Given the description of an element on the screen output the (x, y) to click on. 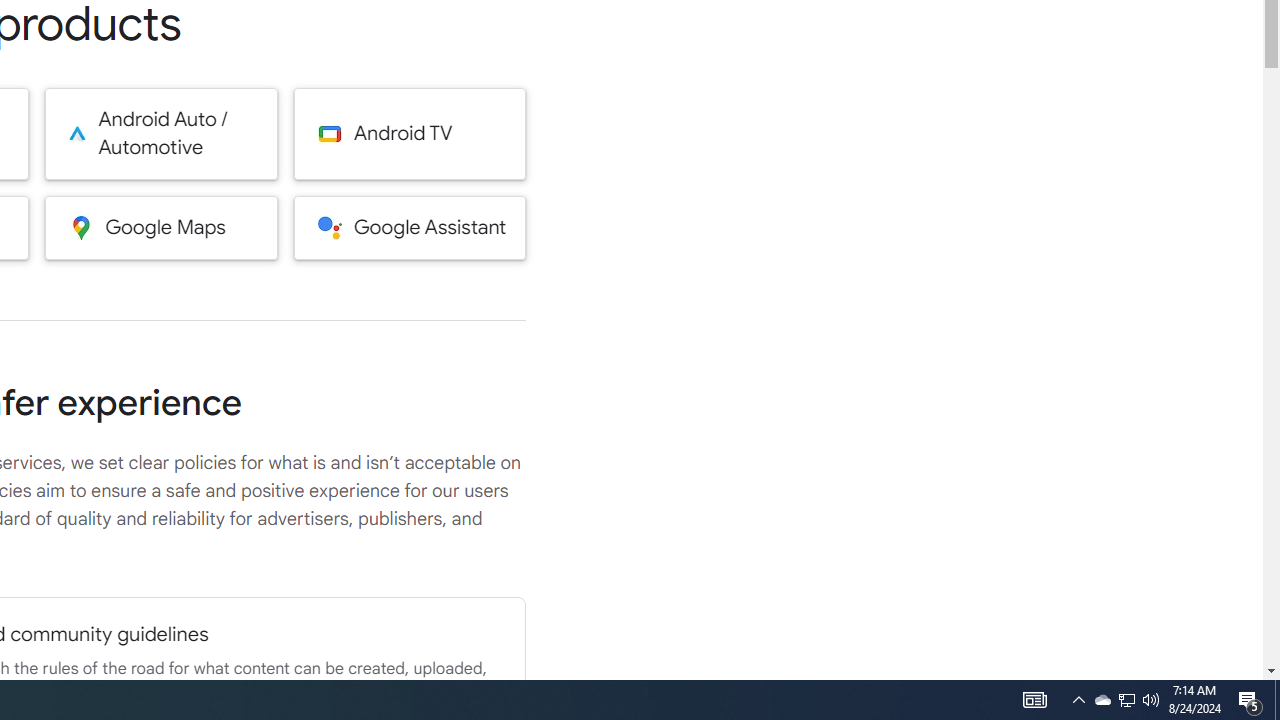
Android TV (410, 133)
Android Auto / Automotive (160, 133)
Google Assistant (410, 227)
Google Maps (160, 227)
